Given the description of an element on the screen output the (x, y) to click on. 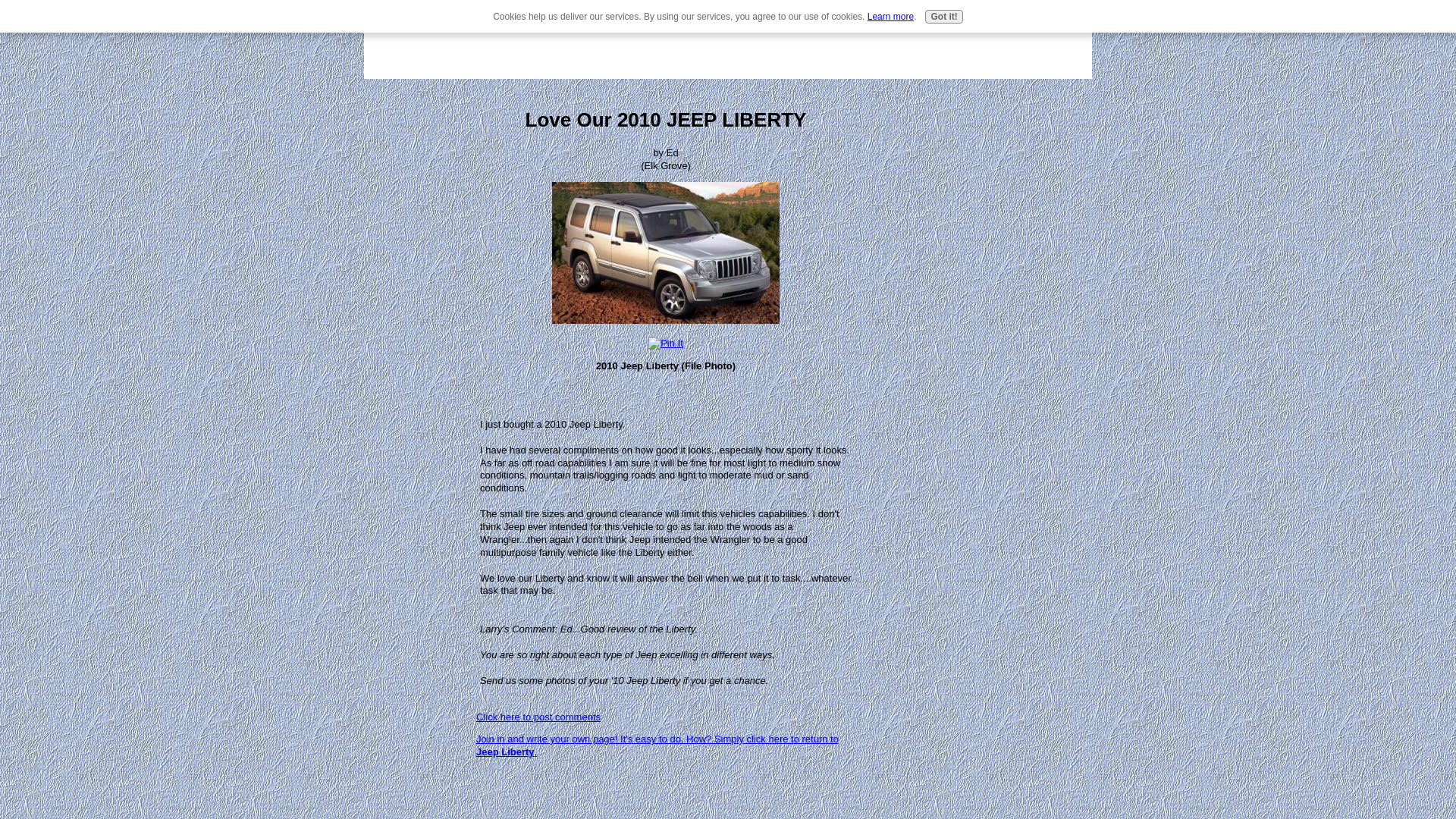
Learn more (890, 16)
Got it! (943, 16)
Click here to post comments (537, 716)
Pin It (664, 343)
